Given the description of an element on the screen output the (x, y) to click on. 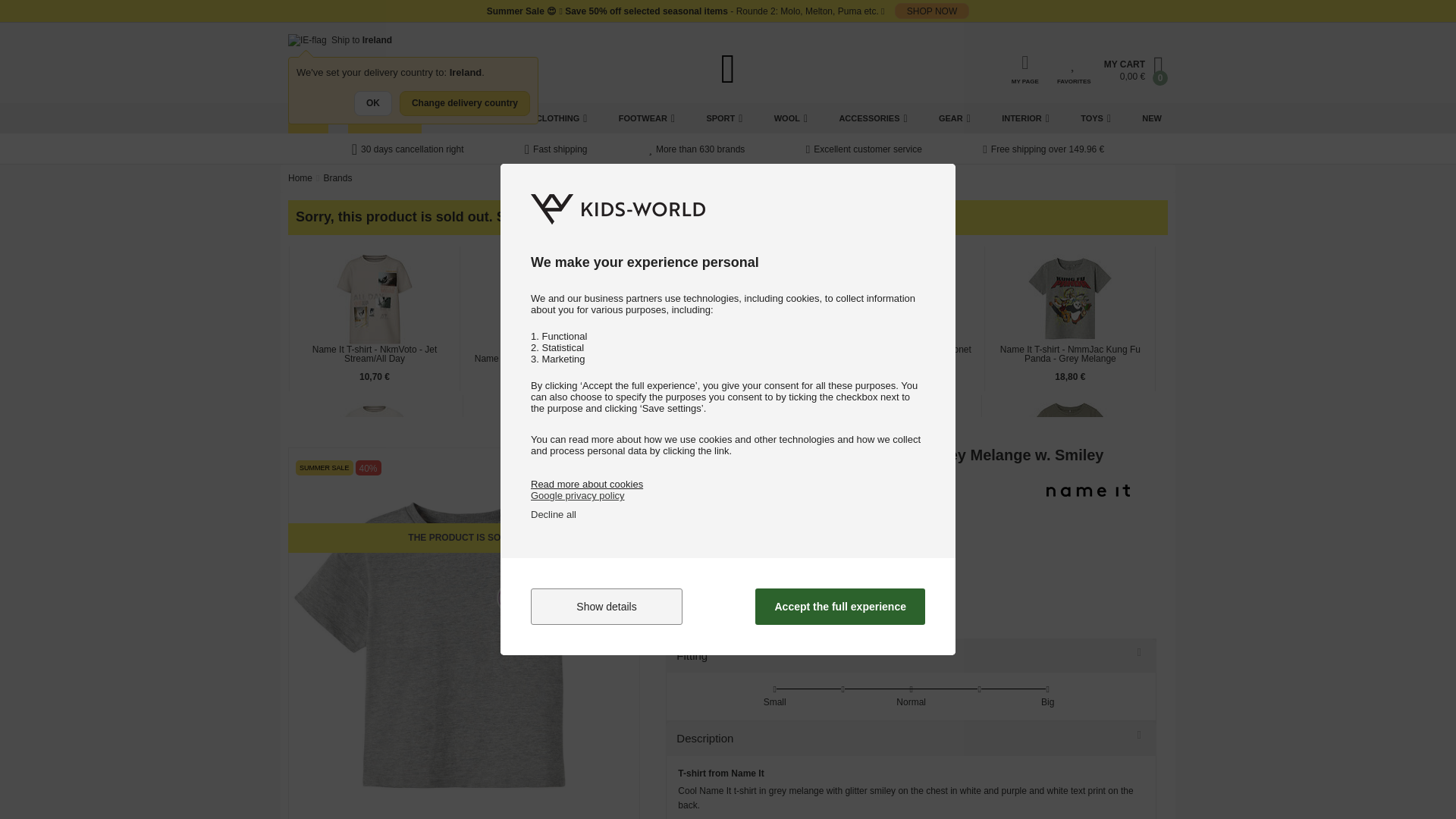
Accept the full experience (839, 606)
Google privacy policy (577, 495)
Show details (606, 606)
Decline all (553, 514)
Read more about cookies (587, 483)
